Given the description of an element on the screen output the (x, y) to click on. 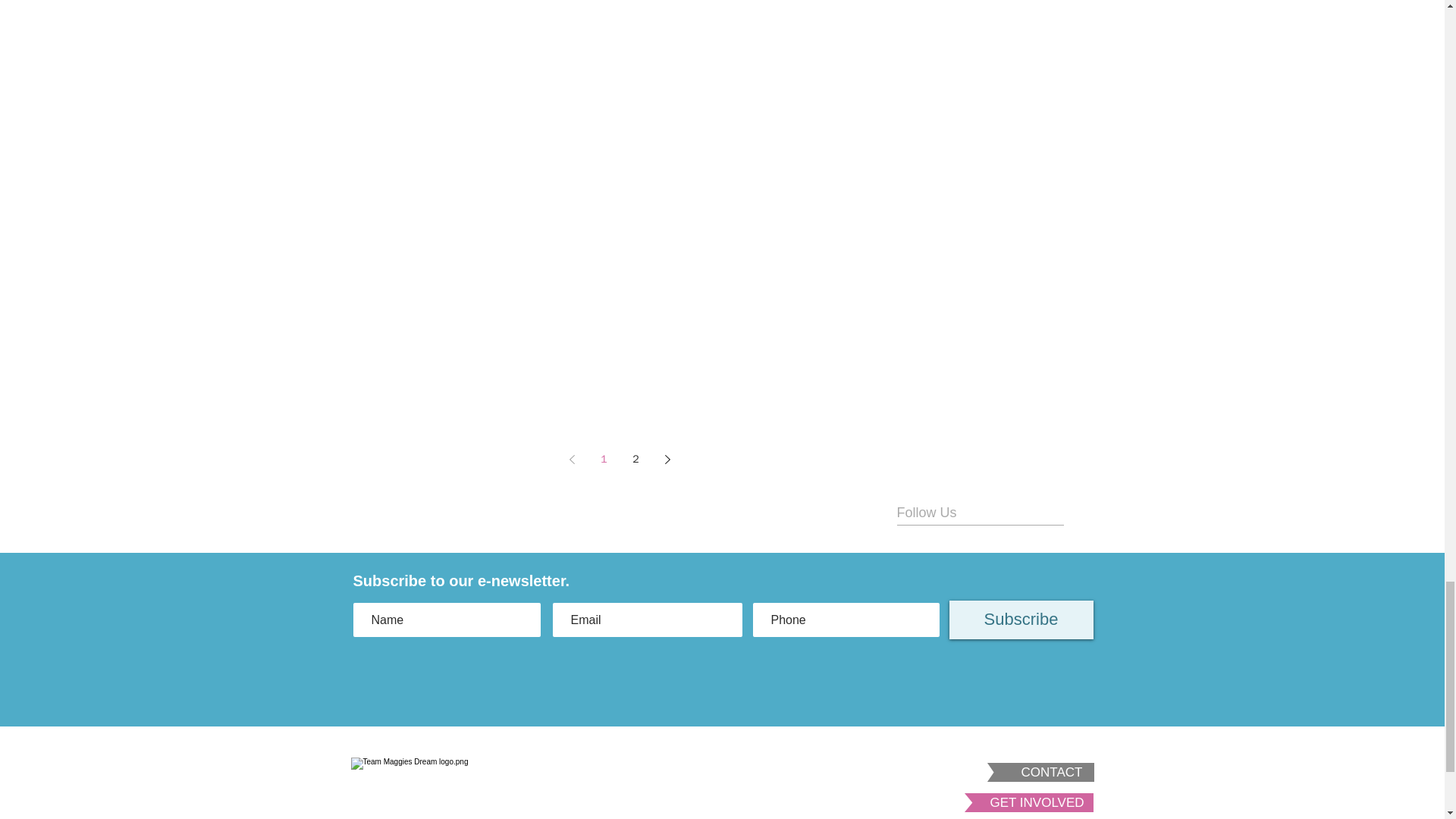
Subscribe (1021, 619)
2 (635, 459)
CONTACT (1051, 772)
GET INVOLVED (1036, 802)
